Given the description of an element on the screen output the (x, y) to click on. 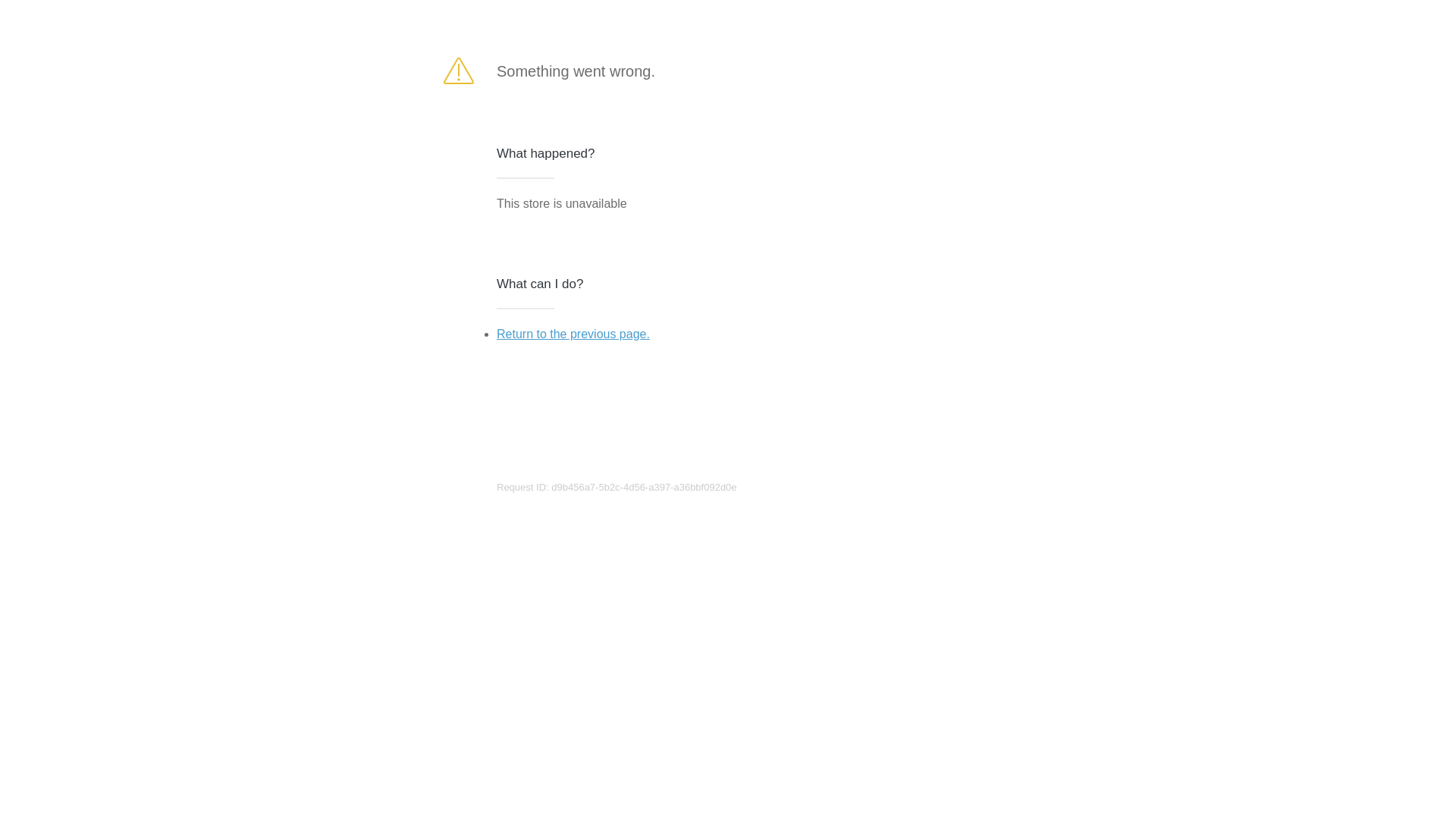
Return to the previous page. Element type: text (572, 333)
